Given the description of an element on the screen output the (x, y) to click on. 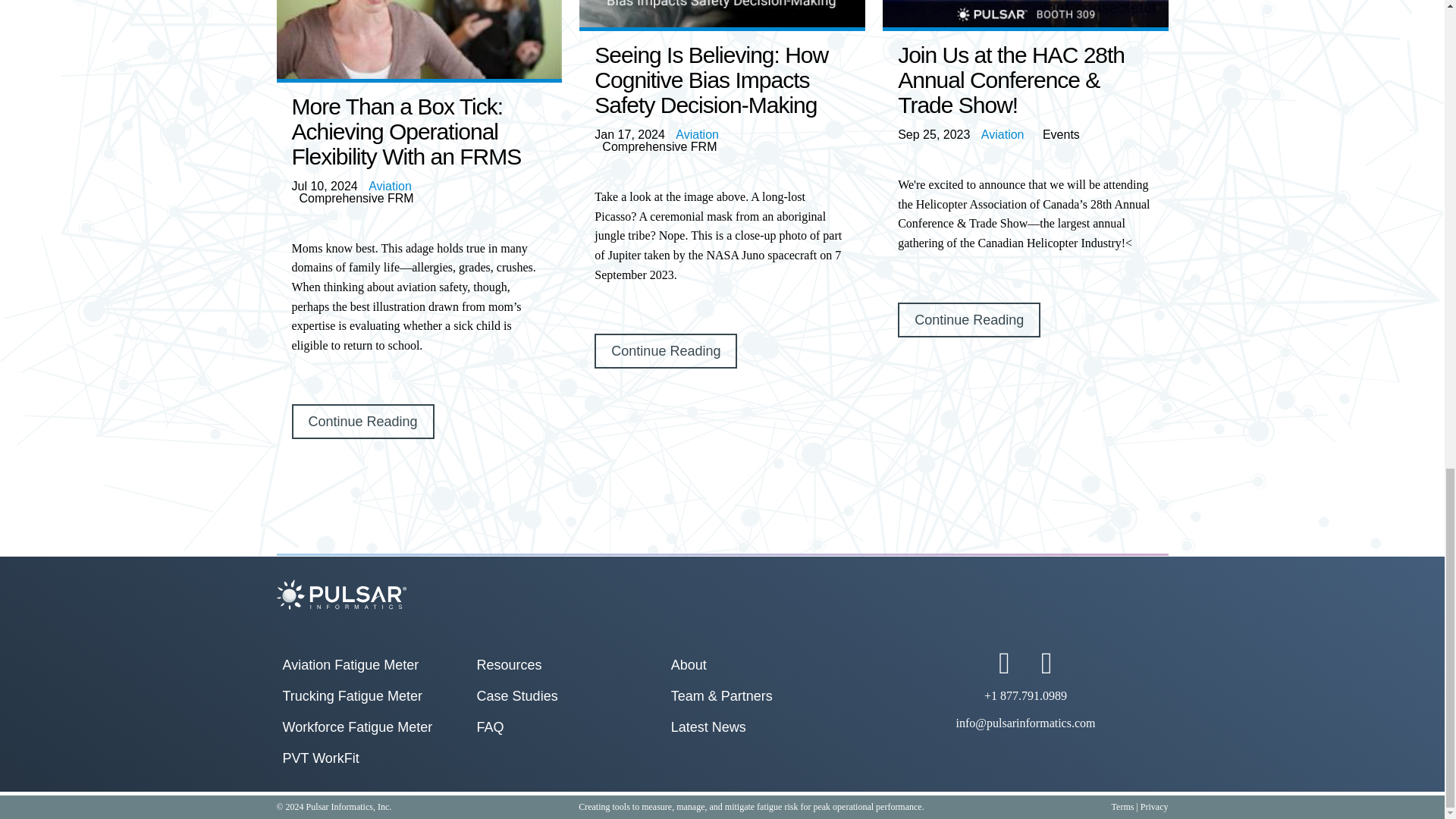
Latest News (708, 727)
Resources (509, 664)
FAQ (490, 727)
Terms (1123, 806)
Trucking Fatigue Meter (352, 695)
PVT WorkFit (320, 758)
Privacy (1154, 806)
About (688, 664)
Aviation Fatigue Meter (350, 664)
Continue Reading (665, 350)
Workforce Fatigue Meter (357, 727)
Continue Reading (969, 319)
Case Studies (517, 695)
Continue Reading (362, 421)
